Given the description of an element on the screen output the (x, y) to click on. 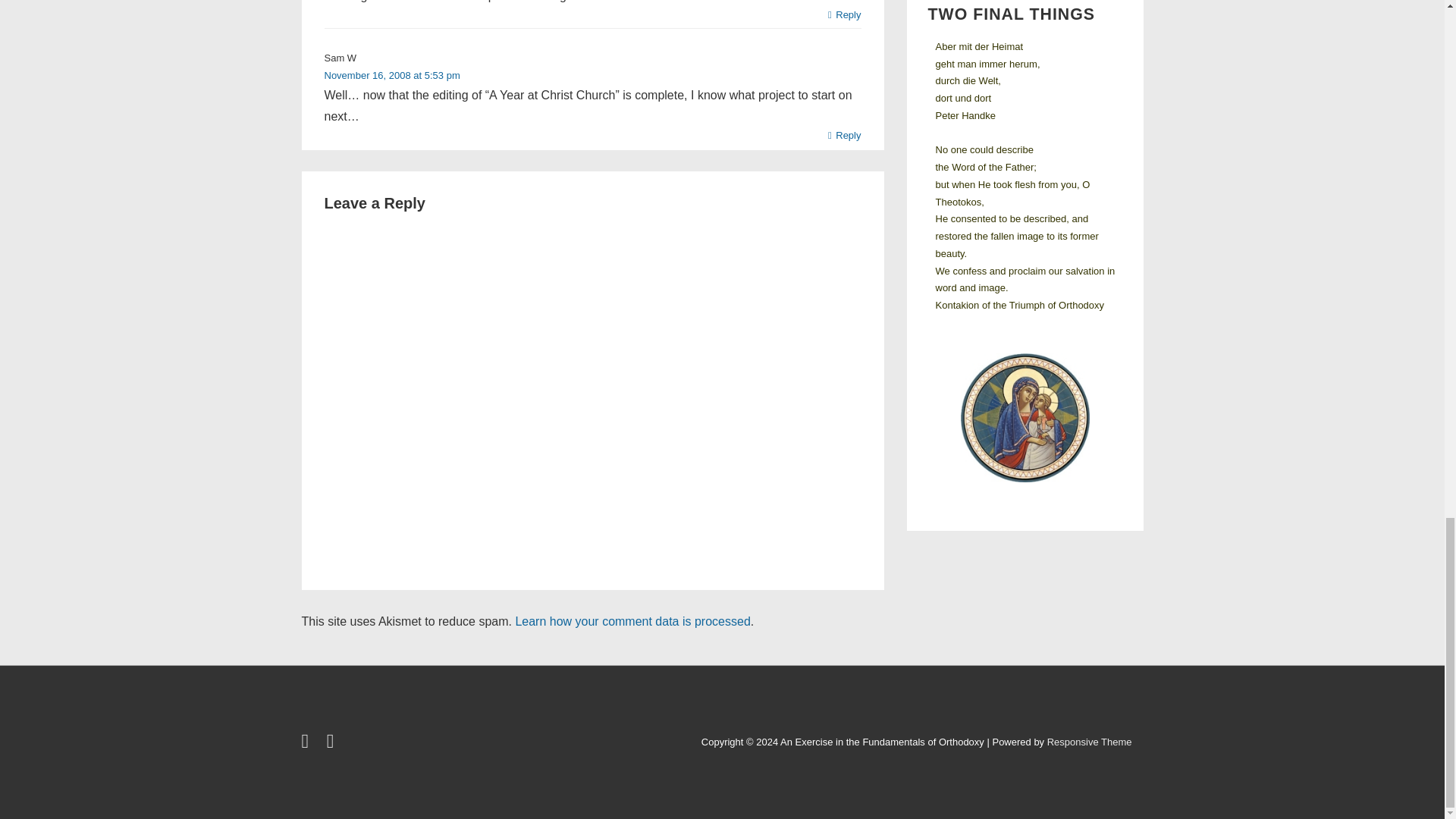
November 16, 2008 at 5:53 pm (392, 75)
Reply (844, 135)
twitter (308, 743)
rss (331, 743)
Learn how your comment data is processed (632, 621)
Reply (844, 15)
